Given the description of an element on the screen output the (x, y) to click on. 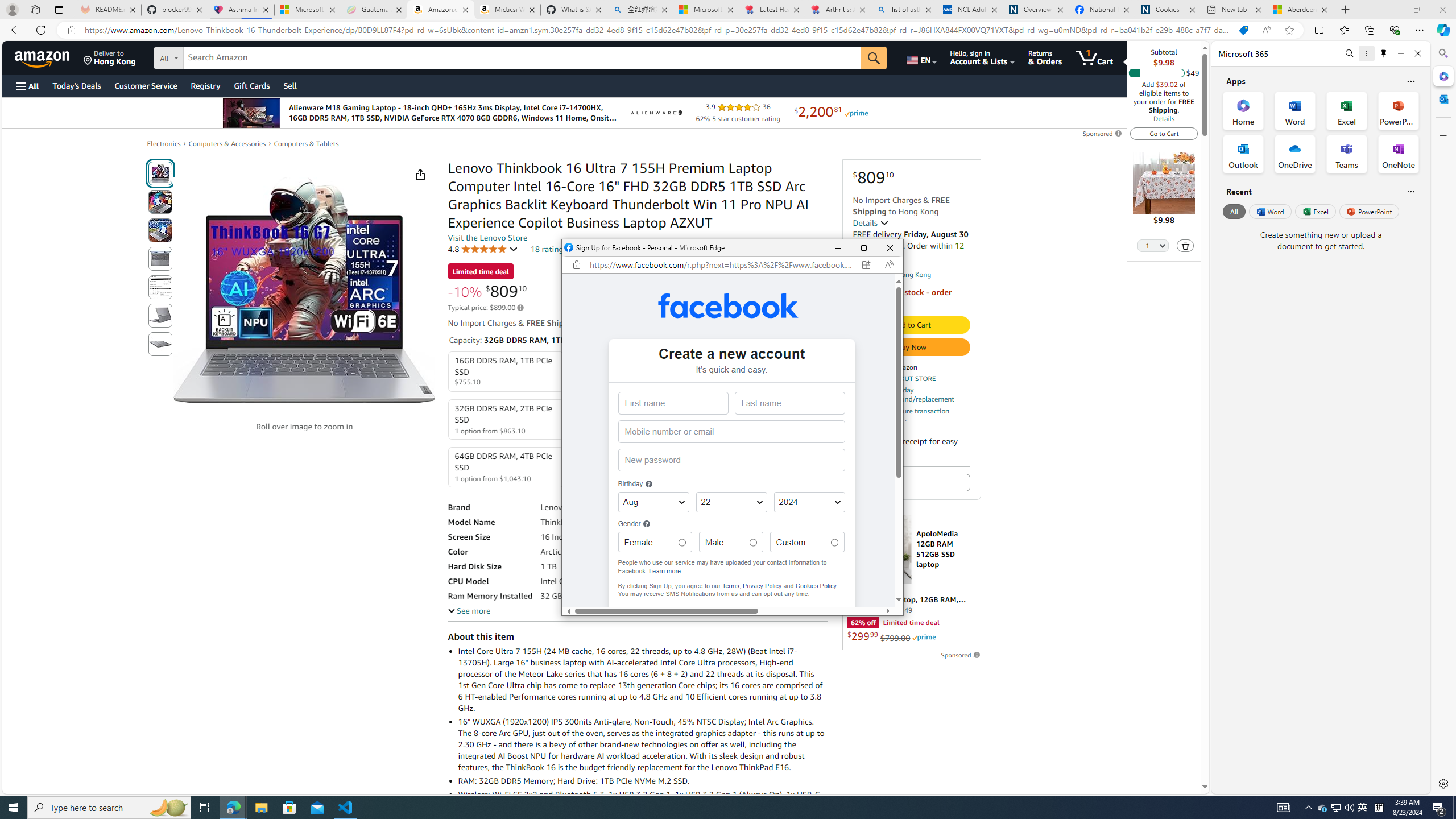
Delete (1185, 245)
Excel (1315, 210)
Running applications (700, 807)
Click for more information (645, 524)
Excel Office App (1346, 110)
Electronics (163, 144)
Month (652, 502)
